Given the description of an element on the screen output the (x, y) to click on. 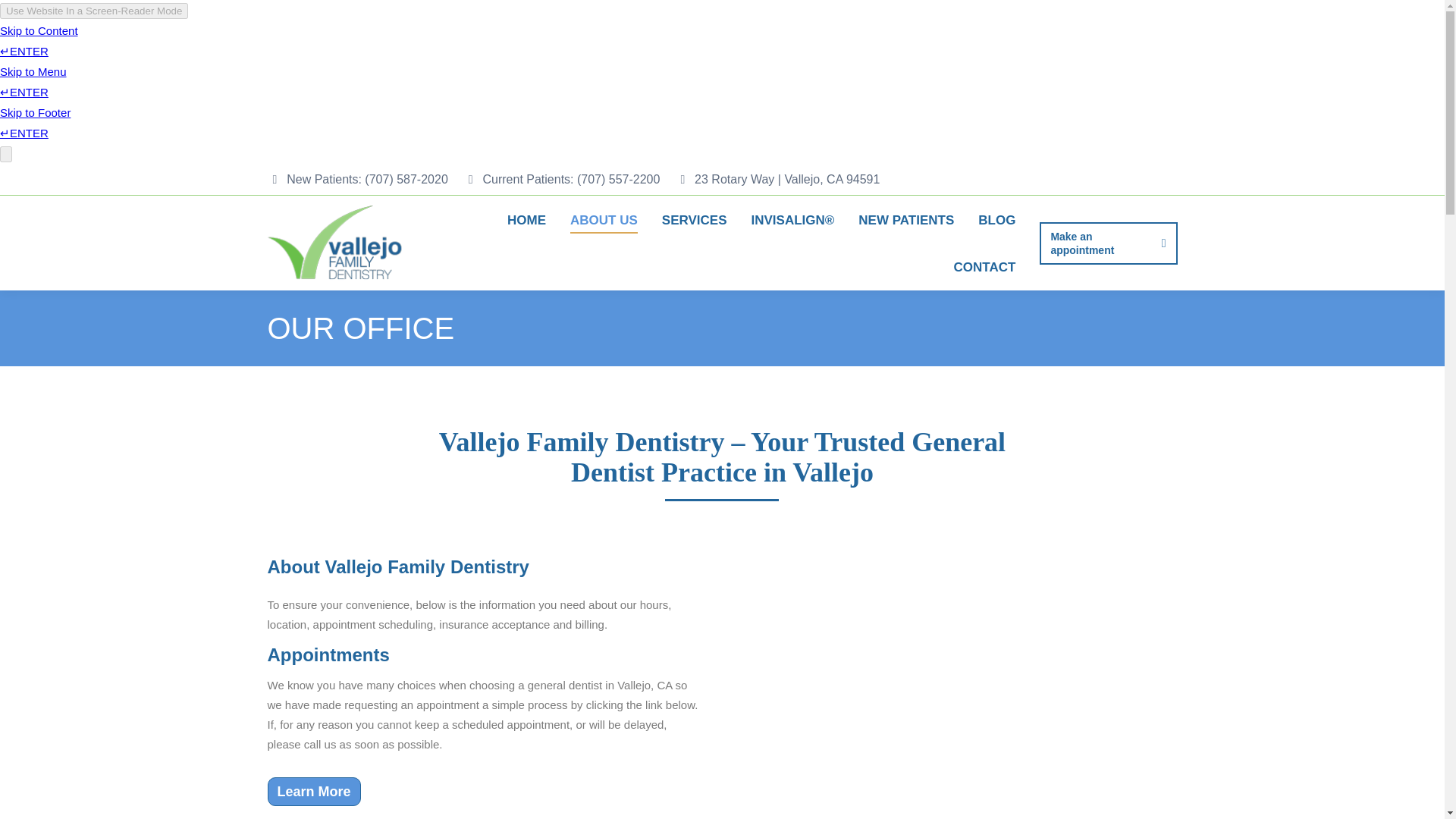
NEW PATIENTS (905, 219)
SERVICES (694, 219)
Make an appointment (1107, 242)
HOME (525, 219)
ABOUT US (603, 219)
CONTACT (984, 266)
BLOG (997, 219)
Learn More (312, 791)
